Given the description of an element on the screen output the (x, y) to click on. 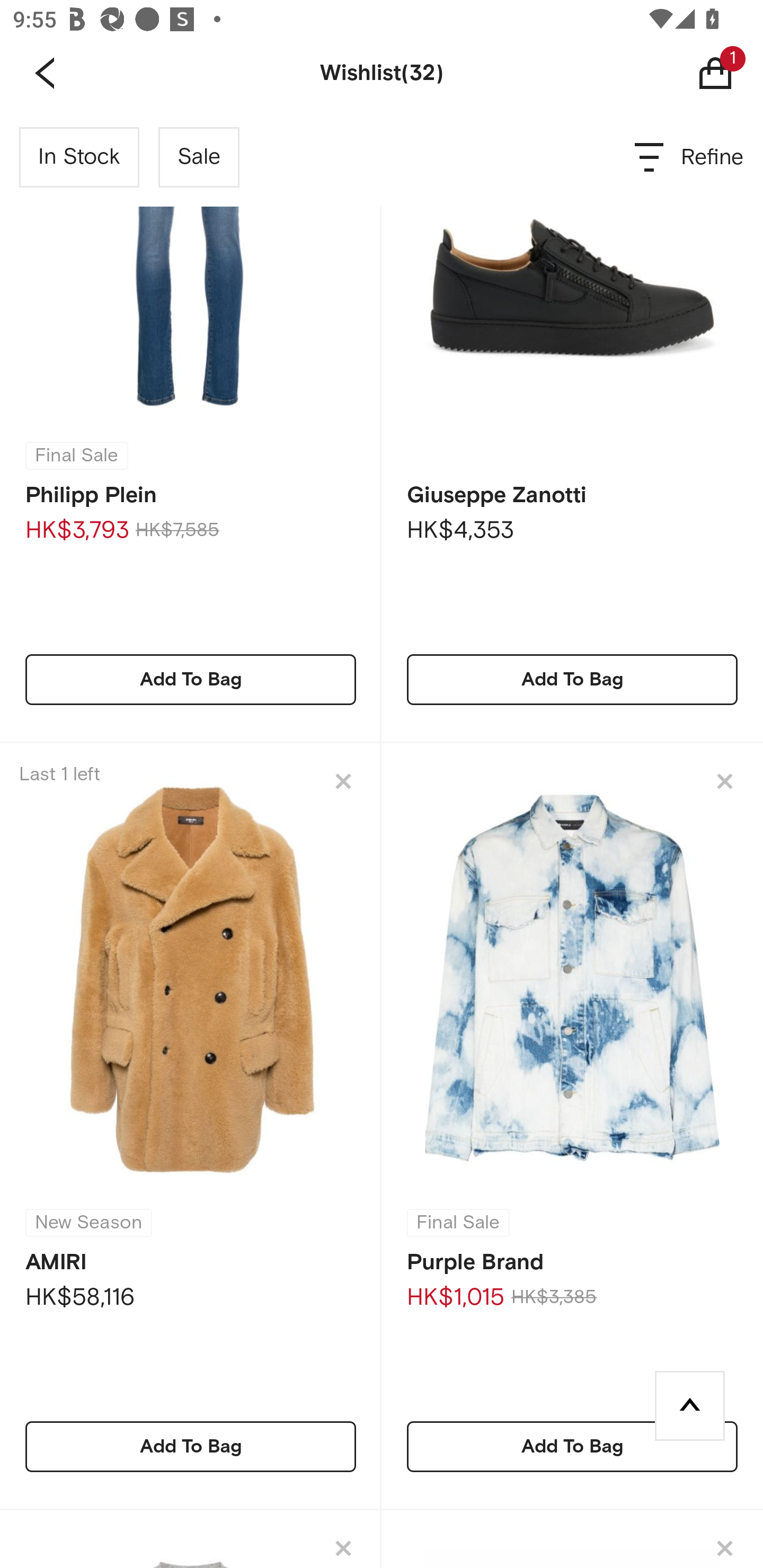
1 (729, 72)
Giuseppe Zanotti HK$4,353 Add To Bag (572, 425)
In Stock (79, 157)
Sale (198, 157)
Refine (690, 157)
Add To Bag (190, 679)
Add To Bag (571, 679)
Last 1 left New Season AMIRI HK$58,116 Add To Bag (190, 1126)
Add To Bag (190, 1446)
Add To Bag (571, 1446)
